Given the description of an element on the screen output the (x, y) to click on. 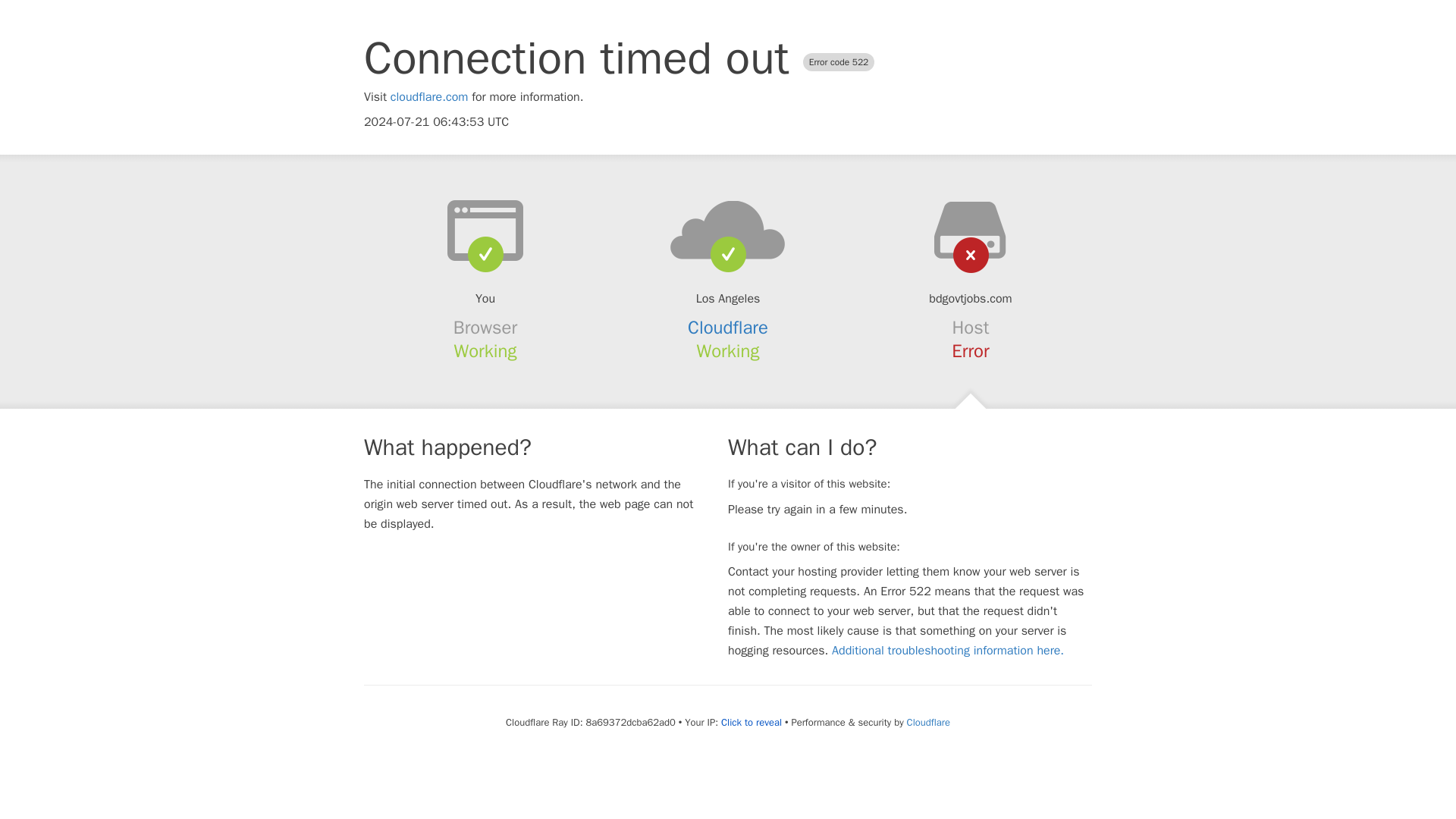
cloudflare.com (429, 96)
Additional troubleshooting information here. (947, 650)
Cloudflare (727, 327)
Click to reveal (750, 722)
Cloudflare (928, 721)
